Given the description of an element on the screen output the (x, y) to click on. 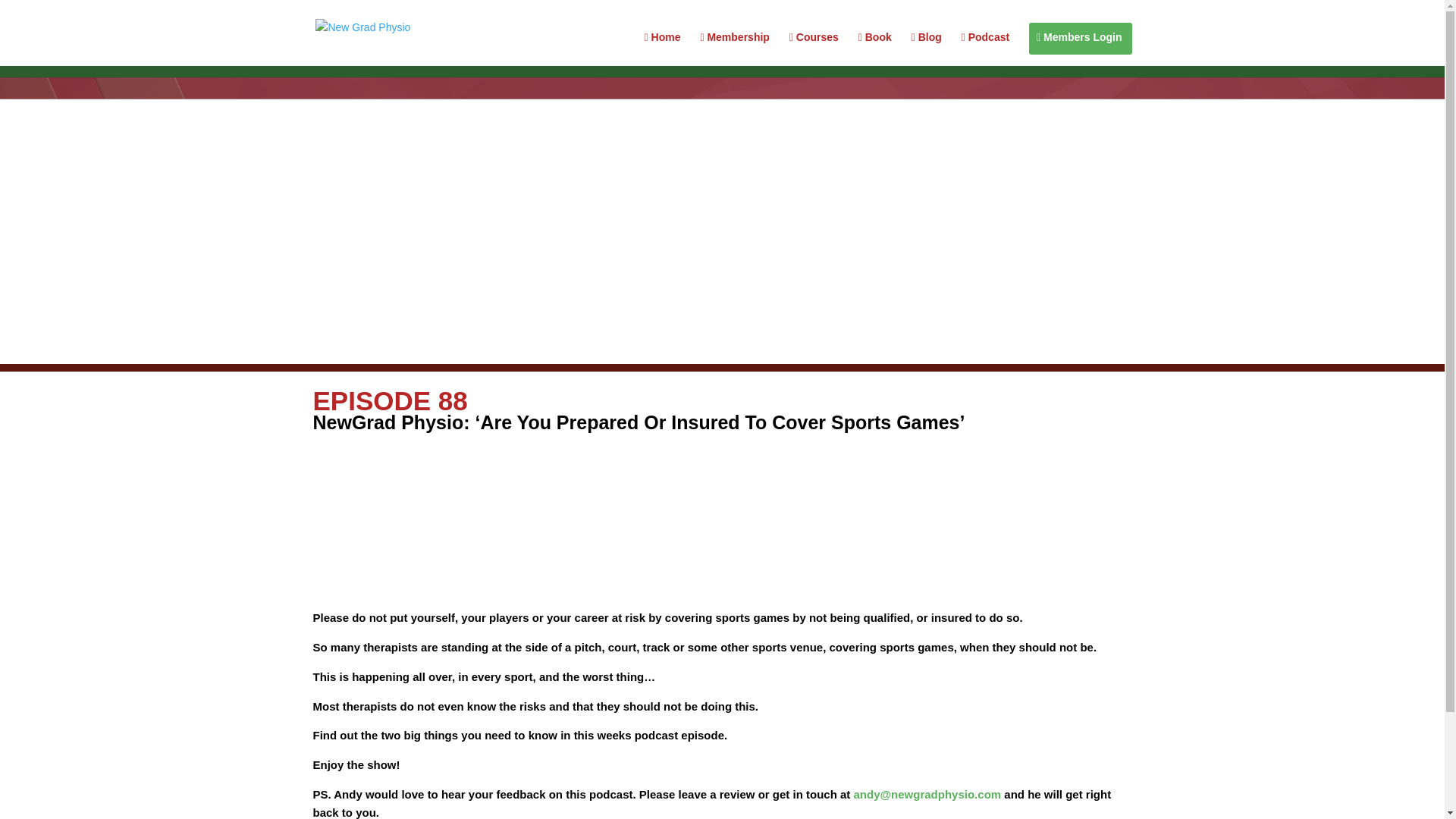
Membership (734, 48)
Home (663, 48)
Courses (813, 48)
Podcast (984, 48)
Book (875, 48)
Members Login (1078, 48)
